Given the description of an element on the screen output the (x, y) to click on. 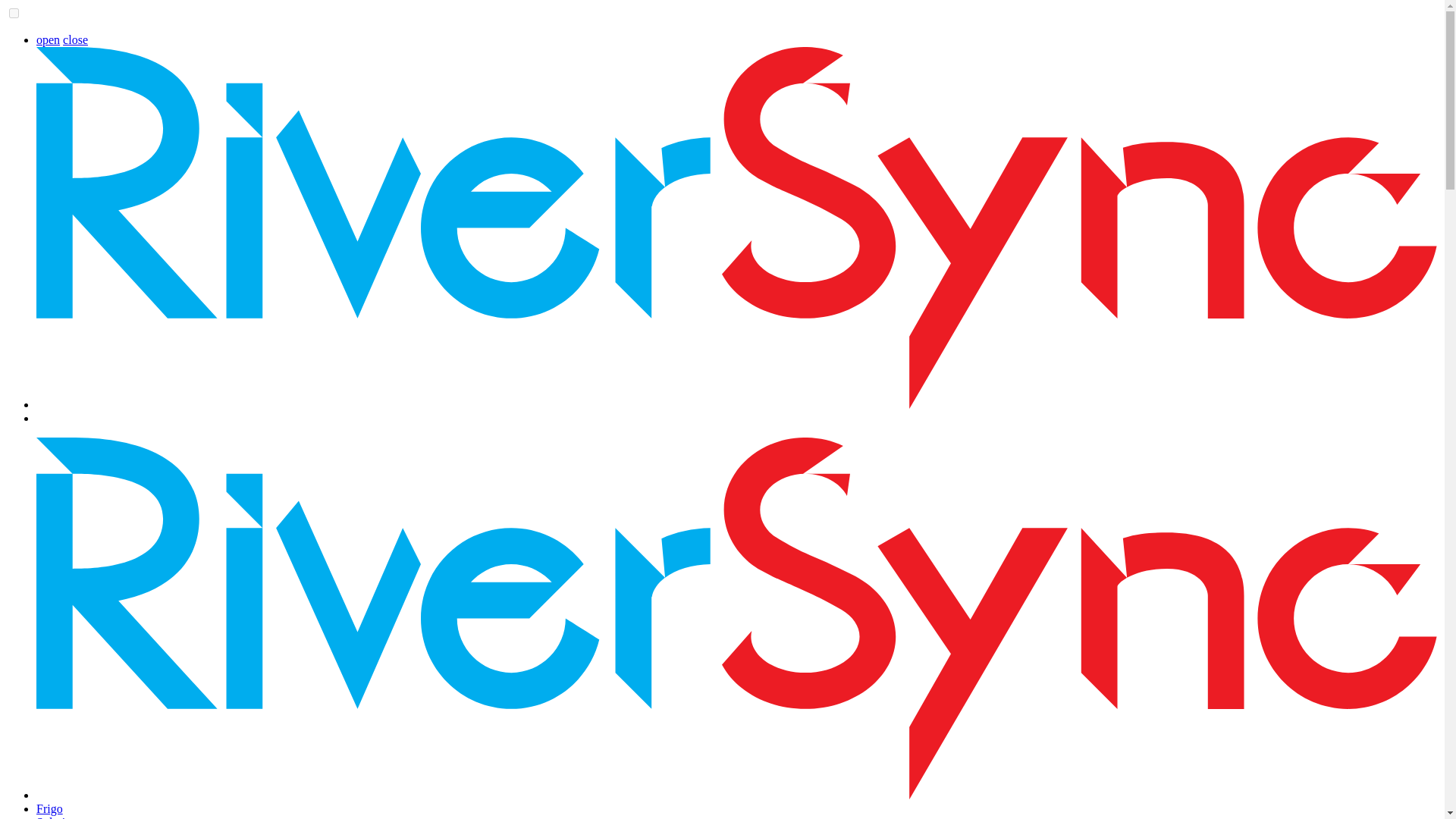
on (13, 13)
close (74, 39)
Solutions (58, 817)
open (47, 39)
Frigo (49, 808)
